Given the description of an element on the screen output the (x, y) to click on. 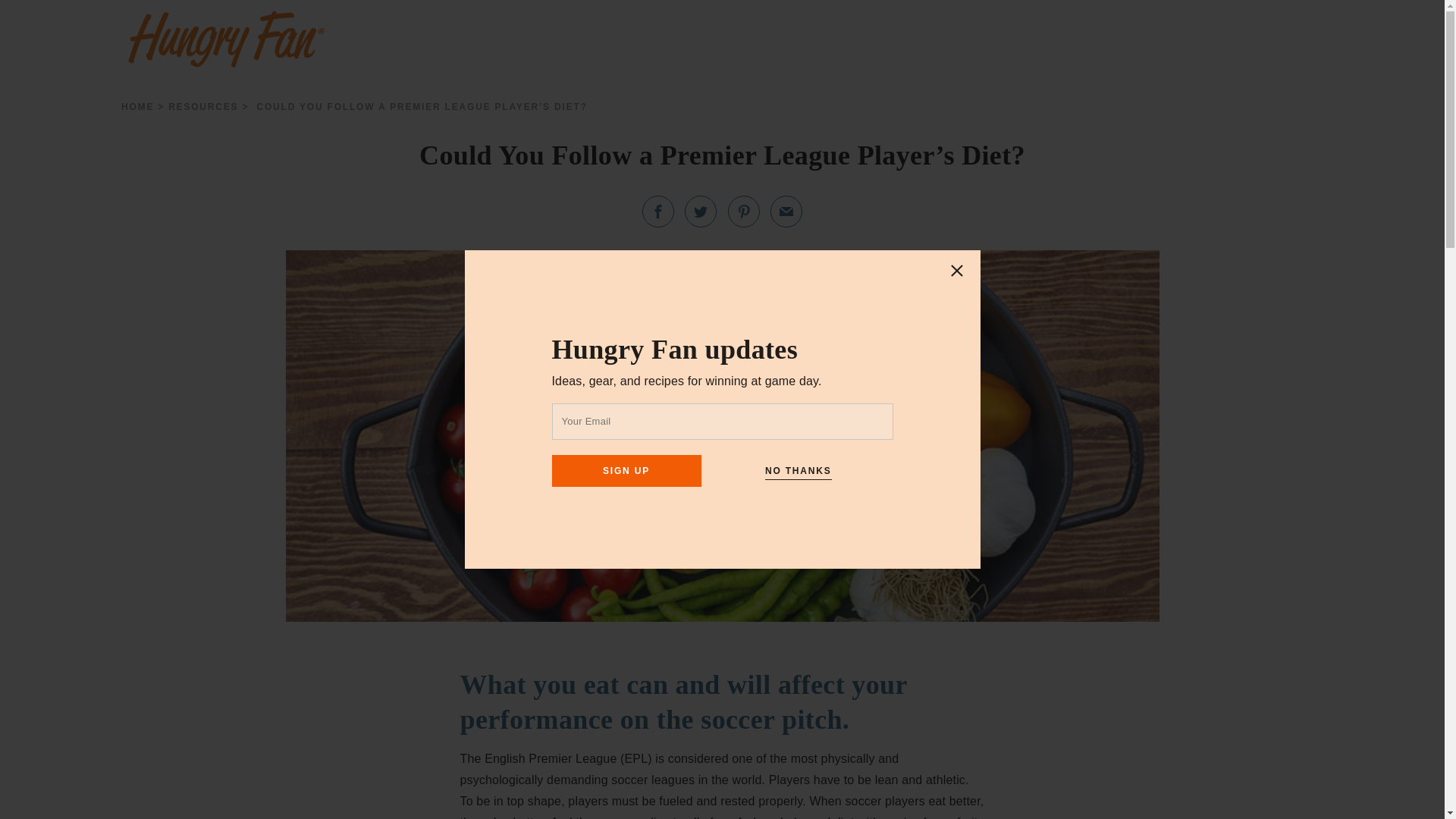
ACCOUNT (1275, 37)
RESOURCES (695, 37)
RESOURCES (203, 106)
SHOP (537, 37)
SEARCH (1391, 36)
RECIPES (605, 37)
ABOUT US (787, 37)
FACEBOOK (658, 211)
HOME (137, 106)
AFFILIATE (956, 37)
CONTACT (872, 37)
